Given the description of an element on the screen output the (x, y) to click on. 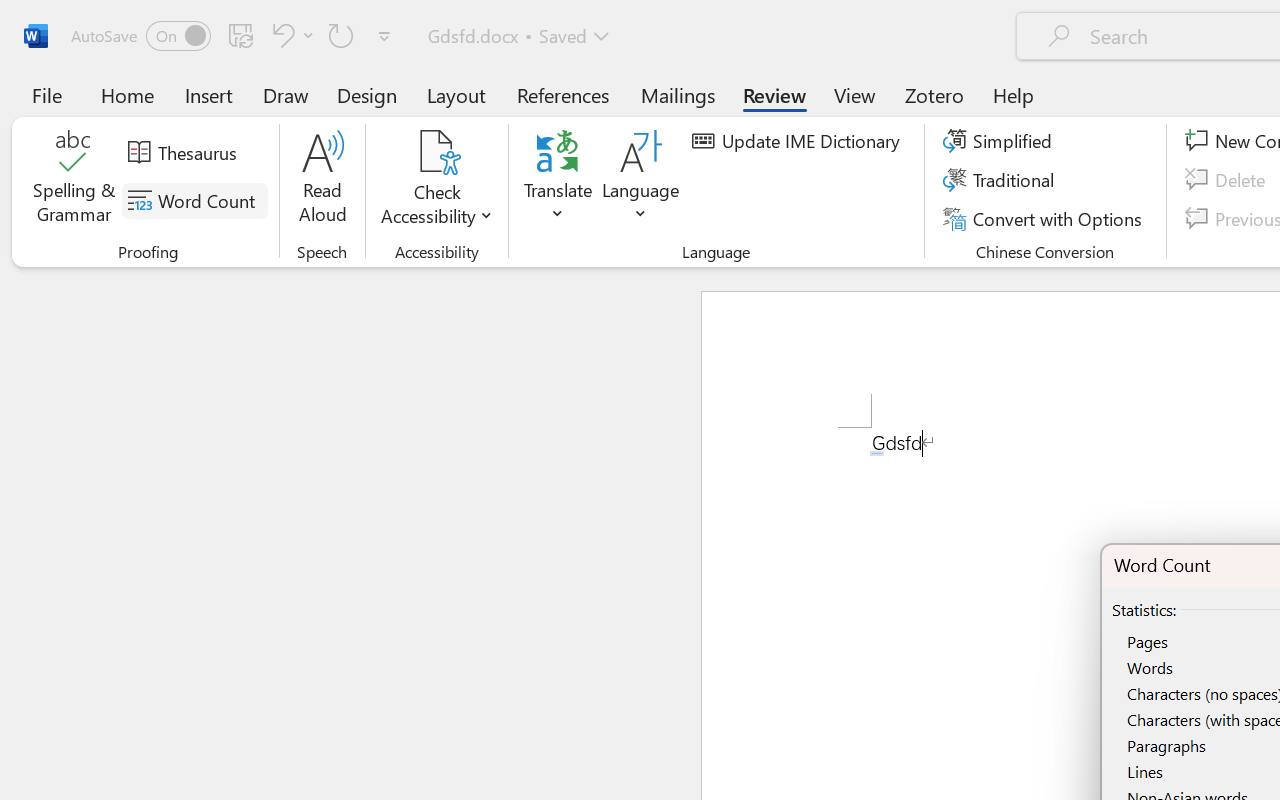
Spelling & Grammar (74, 180)
Translate (558, 179)
Delete (1227, 179)
